Given the description of an element on the screen output the (x, y) to click on. 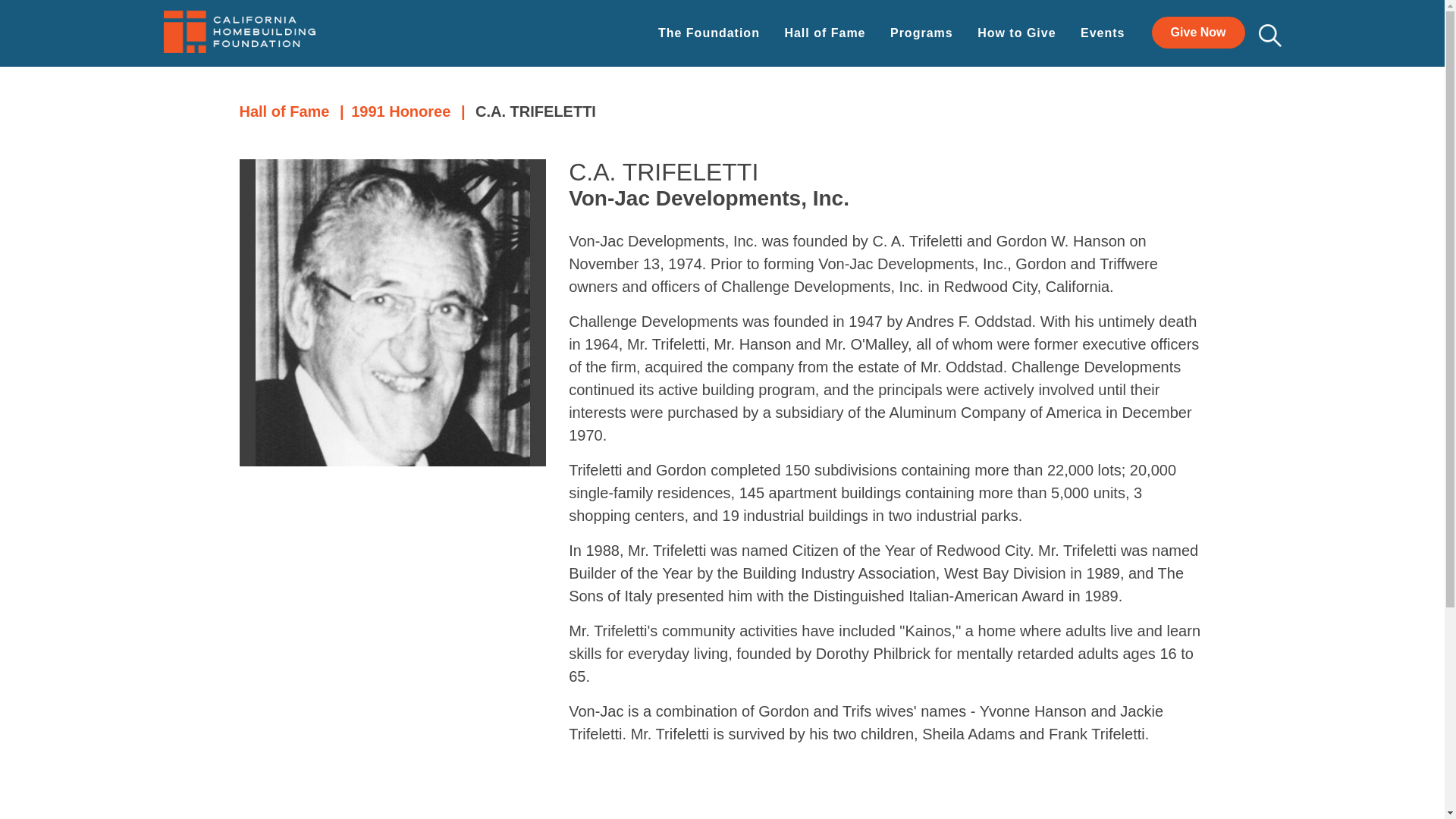
Programs (921, 33)
How to Give (1016, 33)
Hall of Fame (285, 111)
CHF (239, 31)
Events (1101, 33)
Hall of Fame (823, 33)
Give Now (1197, 32)
1991 Honoree (399, 111)
The Foundation (708, 33)
